Given the description of an element on the screen output the (x, y) to click on. 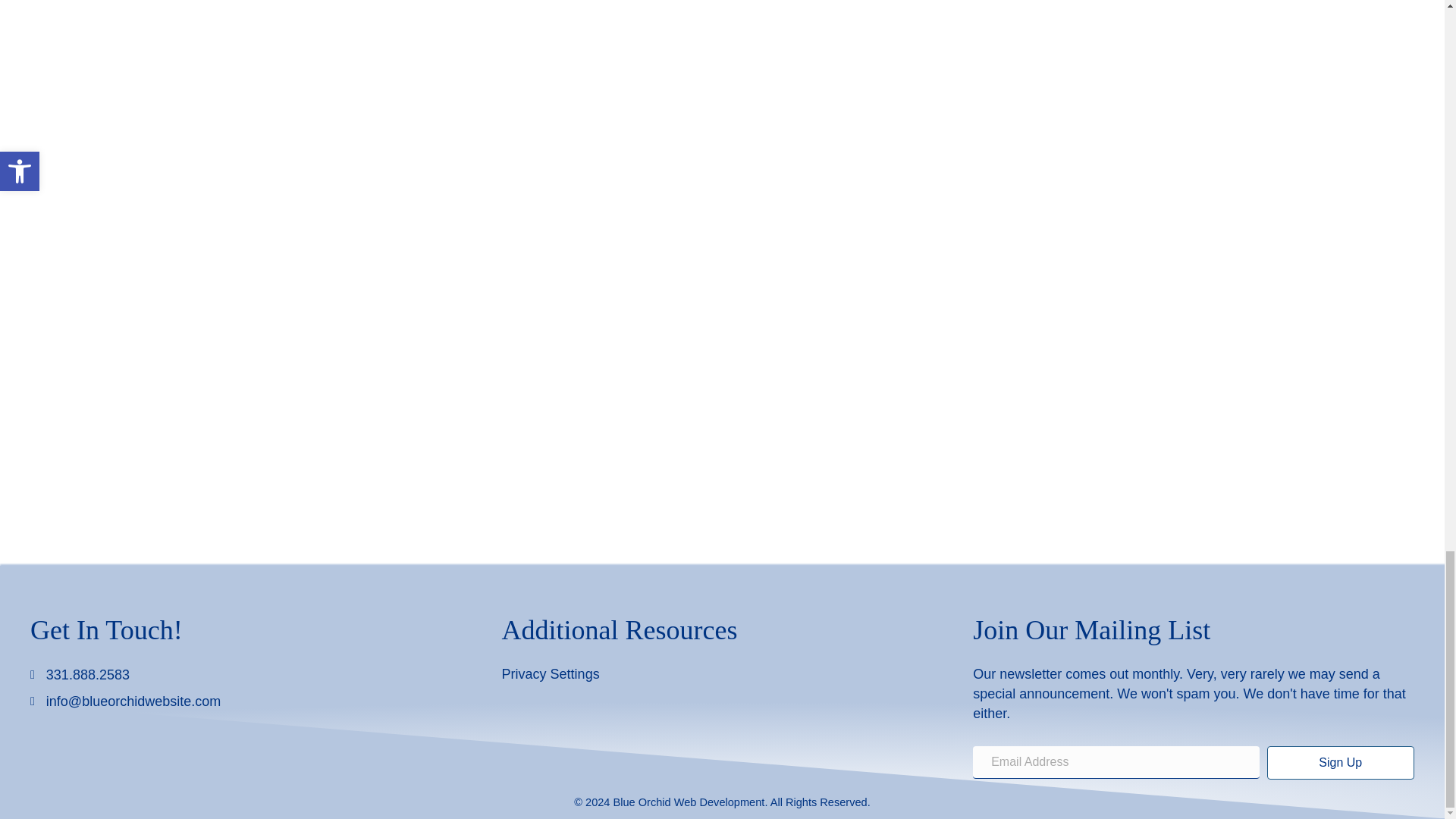
Privacy Settings (550, 673)
331.888.2583 (87, 674)
Sign Up (1339, 762)
